Given the description of an element on the screen output the (x, y) to click on. 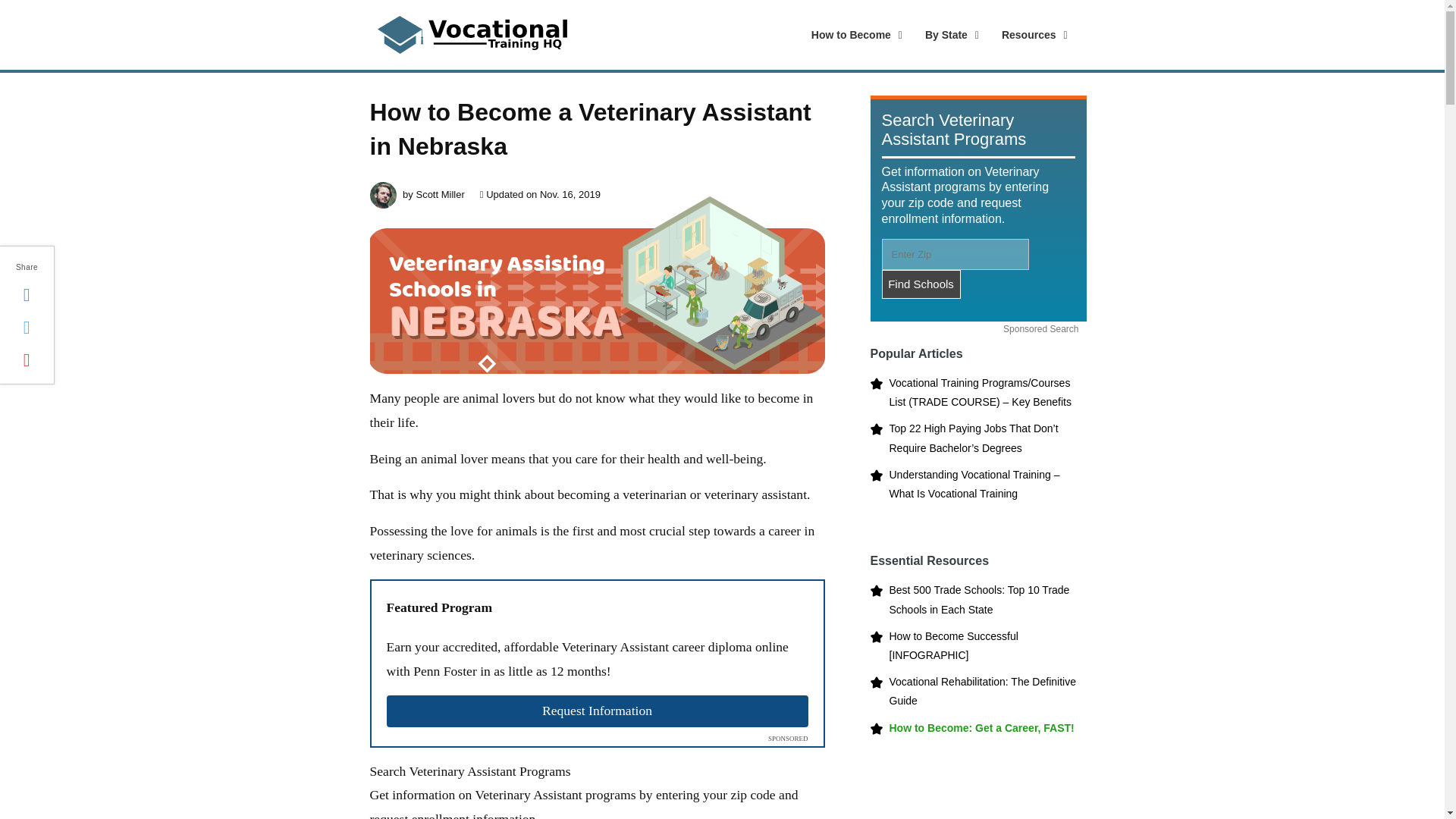
By State (948, 34)
Find Schools (919, 284)
How to Become (853, 34)
